Given the description of an element on the screen output the (x, y) to click on. 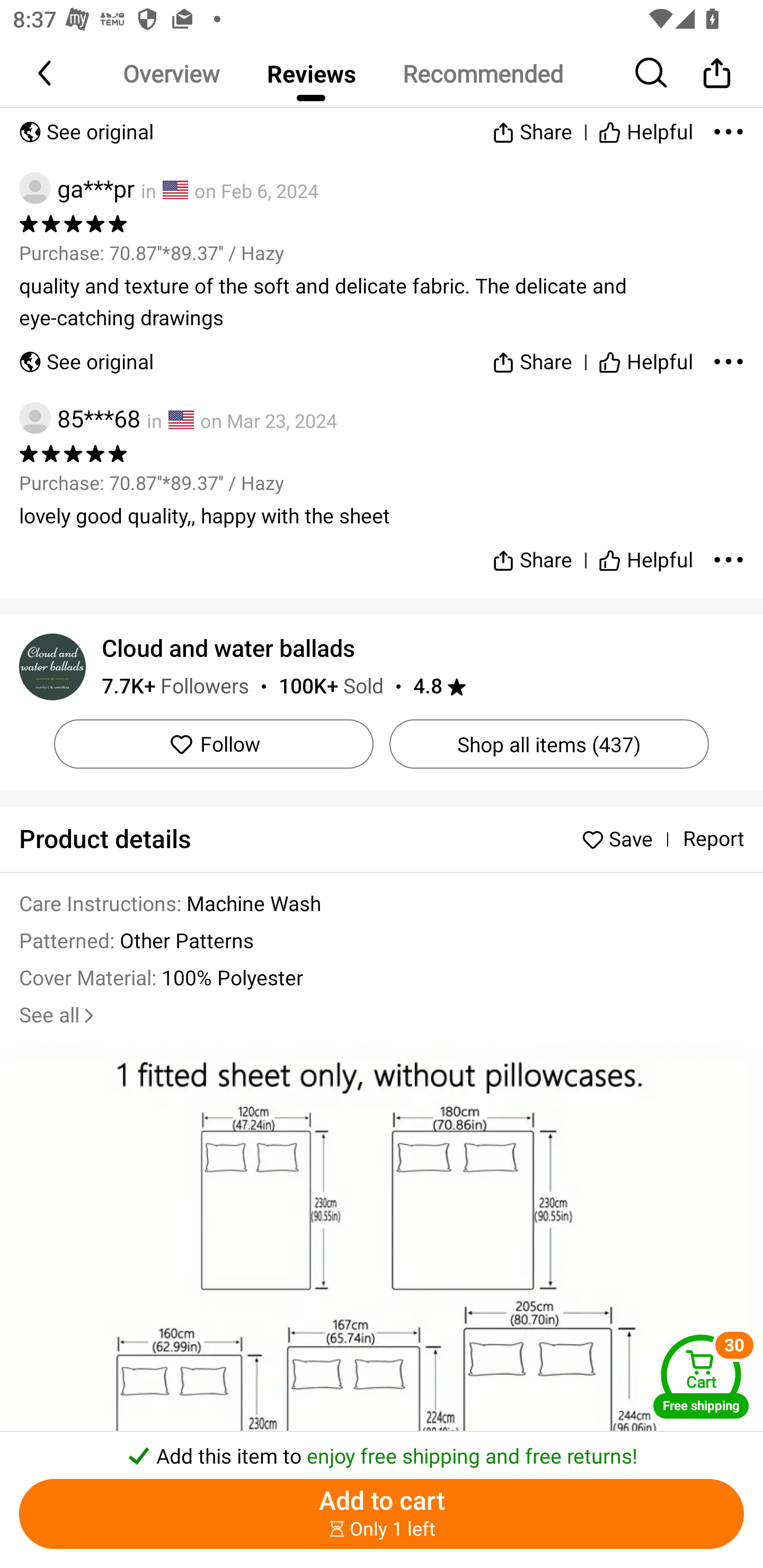
Overview (171, 72)
Reviews (311, 72)
Recommended (482, 72)
Back (46, 72)
Share (716, 72)
  See original (86, 128)
  Share (532, 128)
  Helpful (645, 128)
ga***pr (76, 187)
  See original (86, 357)
  Share (532, 357)
  Helpful (645, 357)
85***68 (79, 417)
  Share (532, 552)
  Helpful (645, 552)
